Given the description of an element on the screen output the (x, y) to click on. 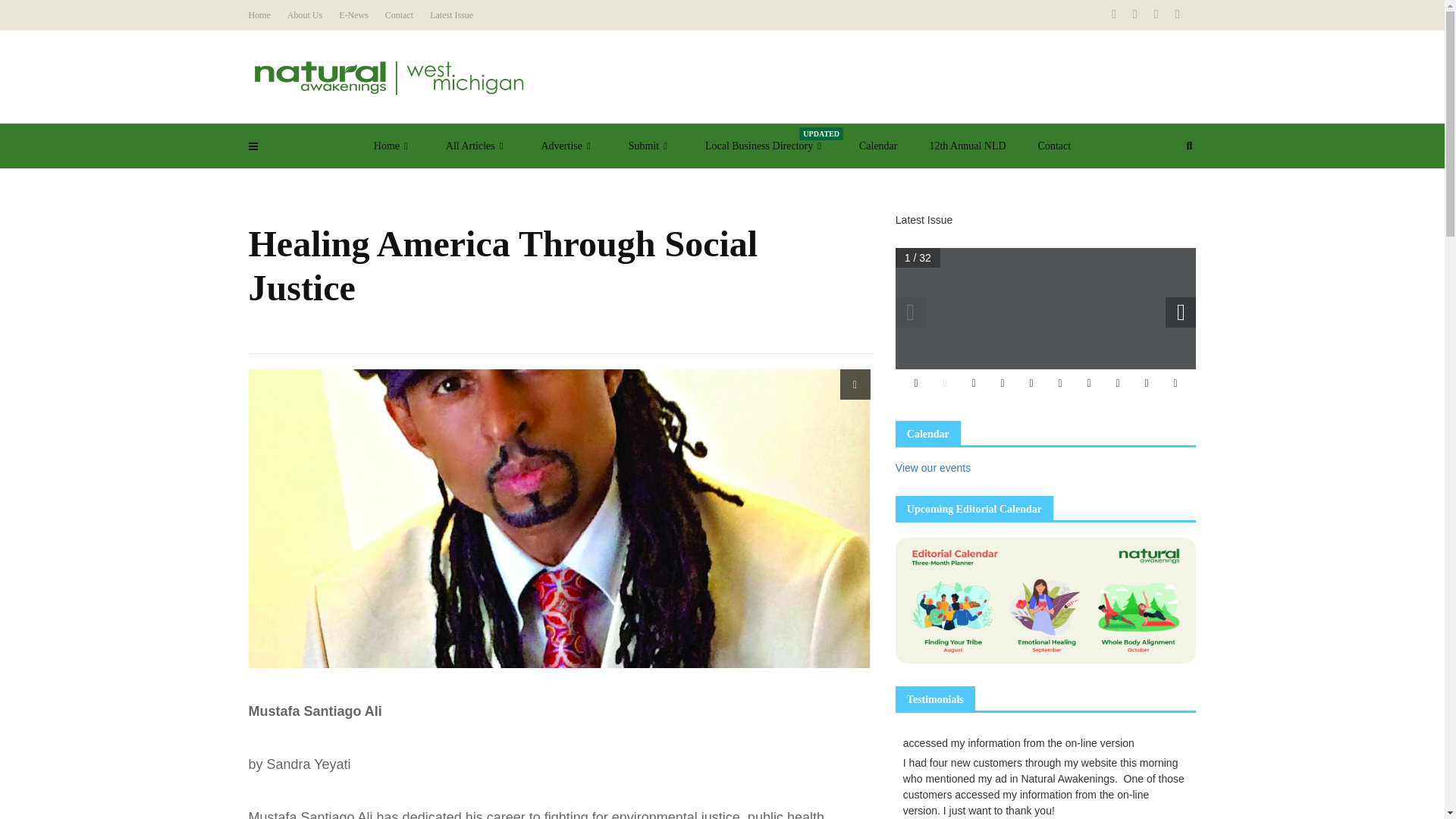
Print (1117, 383)
Sound (1146, 383)
Share (1088, 383)
Pages (1059, 383)
Select tool (1002, 383)
Upcoming Editorial Calendar (1045, 599)
Autoplay (973, 383)
Table of Contents (1030, 383)
Toggle fullscreen (1174, 383)
Zoom out (944, 383)
Zoom in (915, 383)
Newsletter (353, 15)
